Given the description of an element on the screen output the (x, y) to click on. 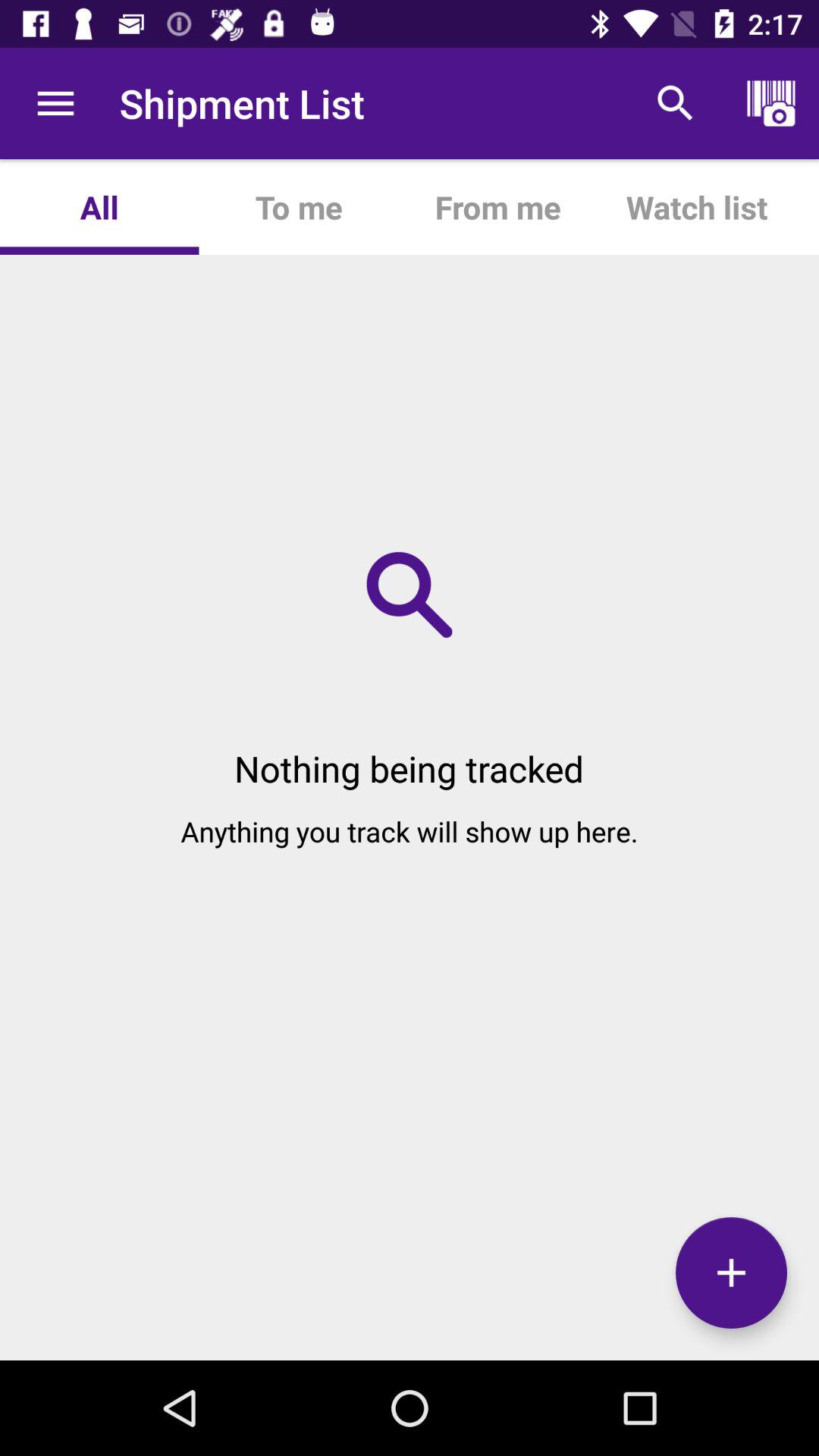
press item to the right of the to me item (497, 206)
